Given the description of an element on the screen output the (x, y) to click on. 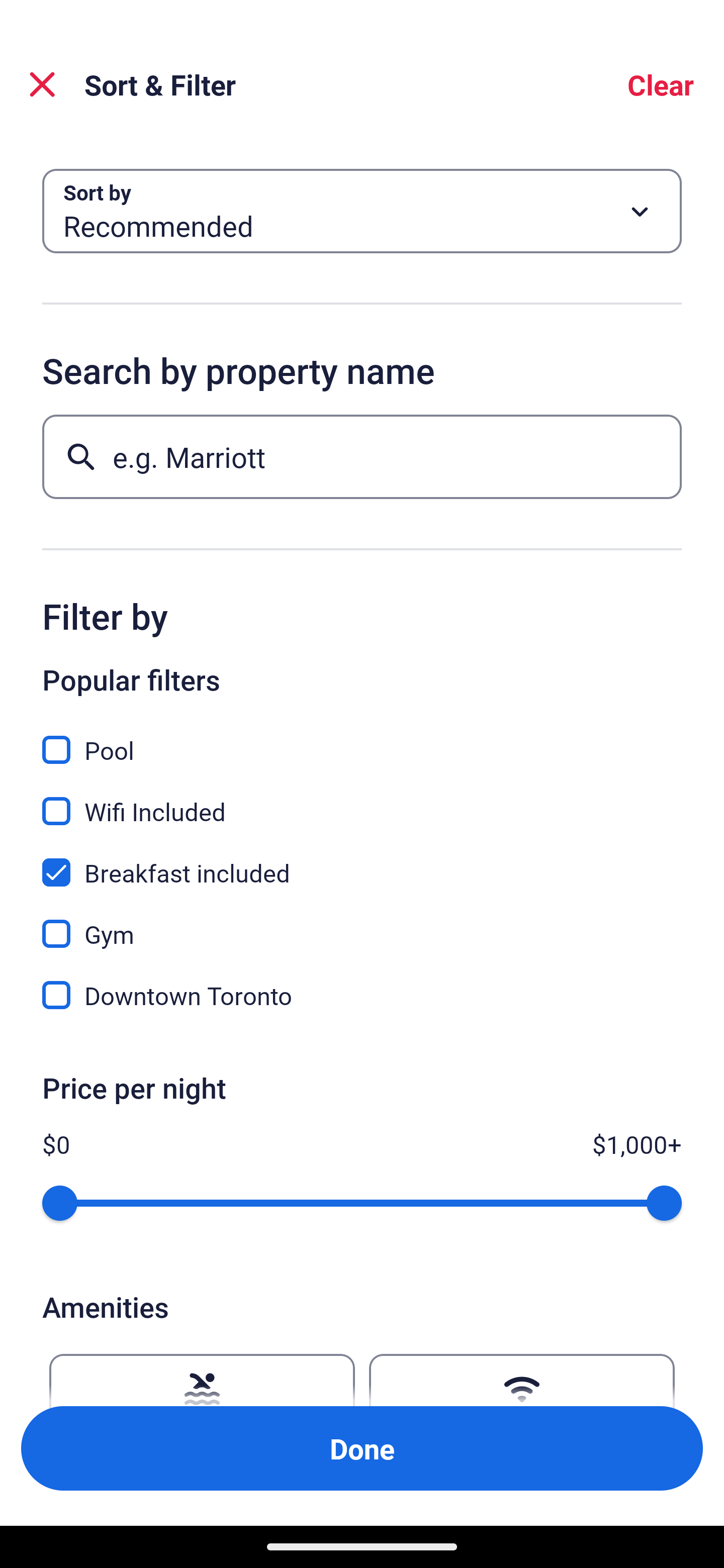
Close Sort and Filter (42, 84)
Clear (660, 84)
Sort by Button Recommended (361, 211)
e.g. Marriott Button (361, 455)
Pool, Pool (361, 738)
Wifi Included, Wifi Included (361, 800)
Breakfast included, Breakfast included (361, 861)
Gym, Gym (361, 922)
Downtown Toronto, Downtown Toronto (361, 995)
Apply and close Sort and Filter Done (361, 1448)
